Given the description of an element on the screen output the (x, y) to click on. 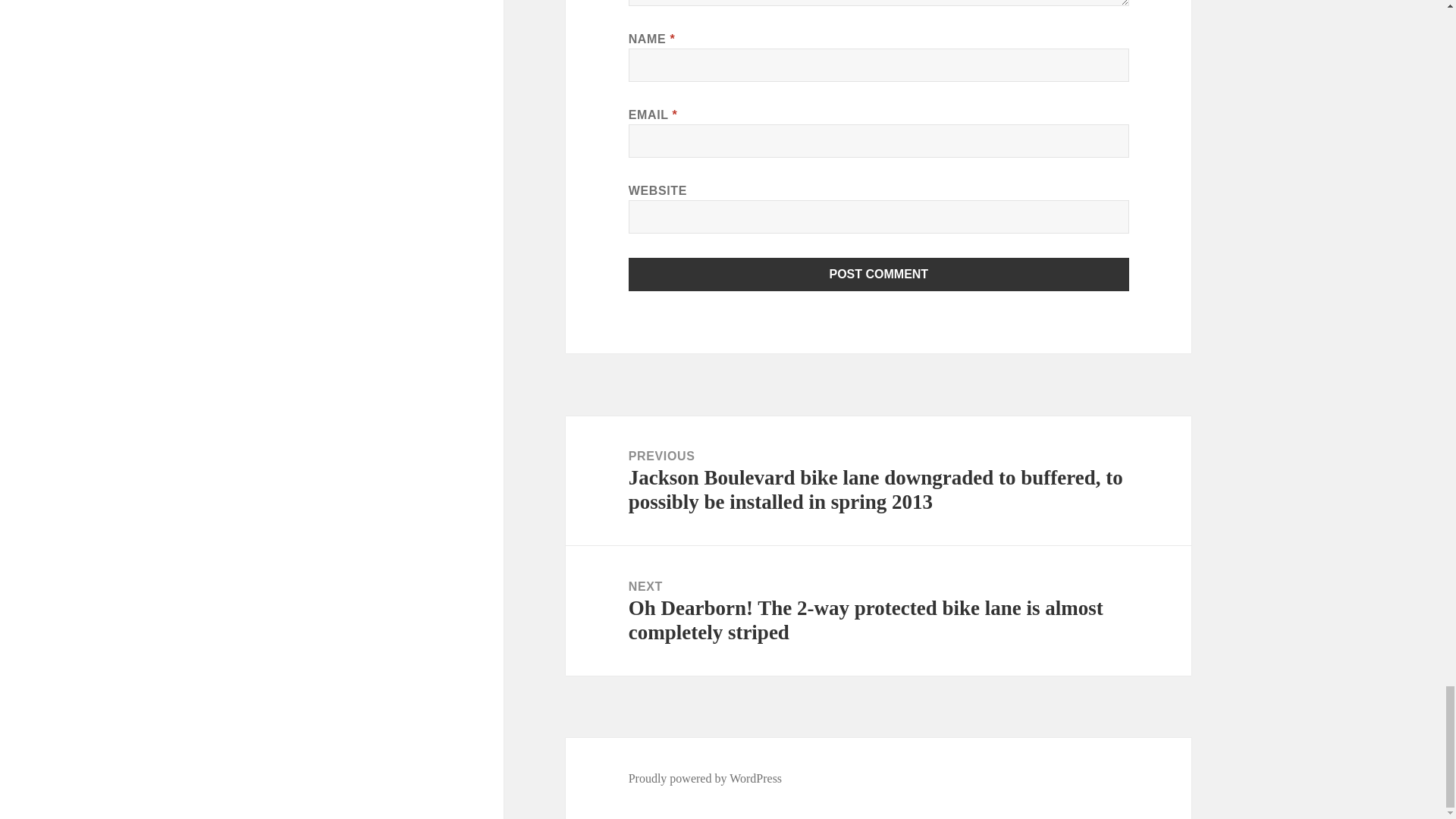
Post Comment (878, 274)
